Given the description of an element on the screen output the (x, y) to click on. 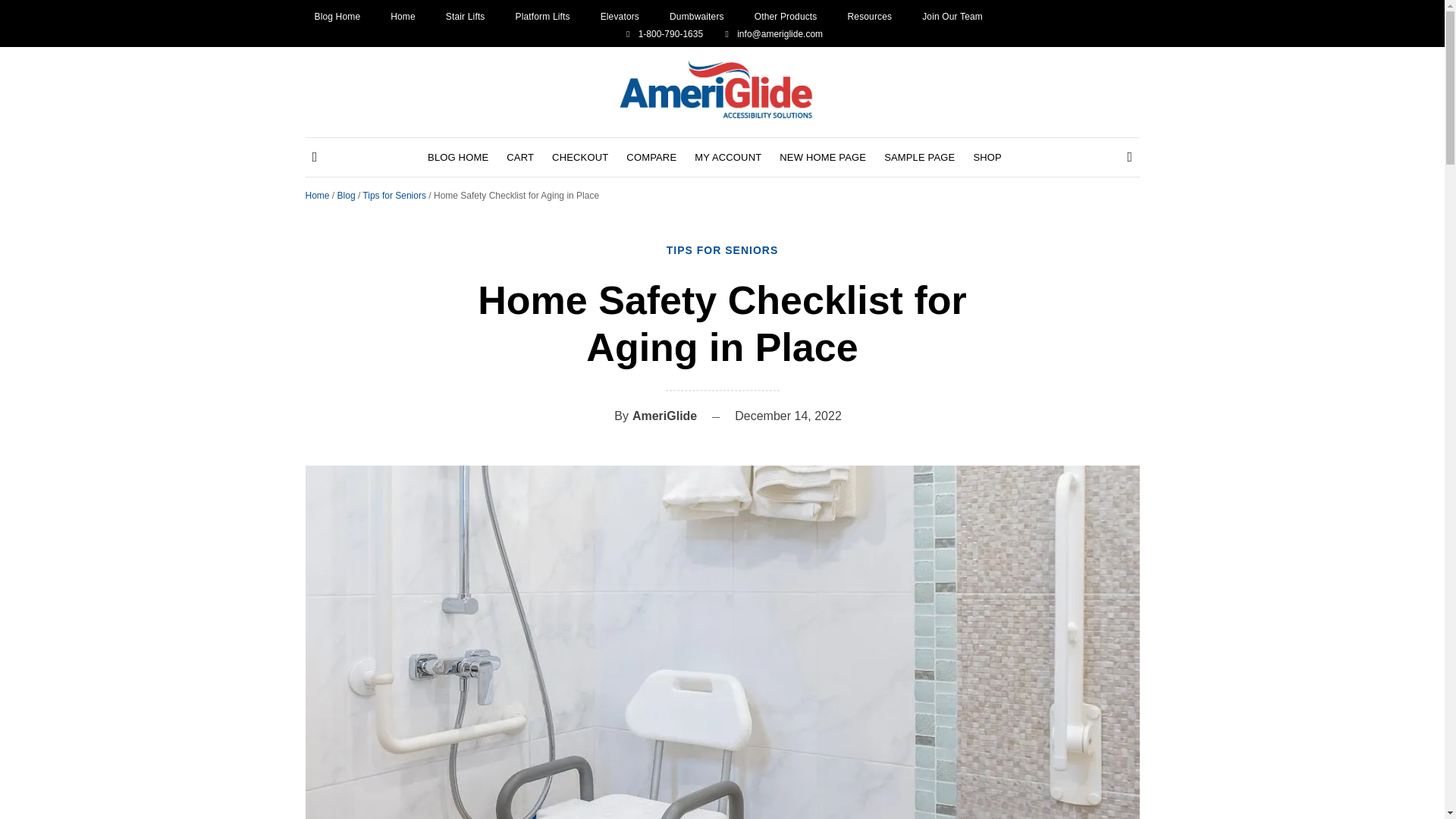
Other Products (785, 16)
Resources (869, 16)
Join Our Team (951, 16)
Platform Lifts (542, 16)
Elevators (619, 16)
Logo (721, 88)
Home (402, 16)
Stair Lifts (464, 16)
Dumbwaiters (696, 16)
Blog Home (336, 16)
